Given the description of an element on the screen output the (x, y) to click on. 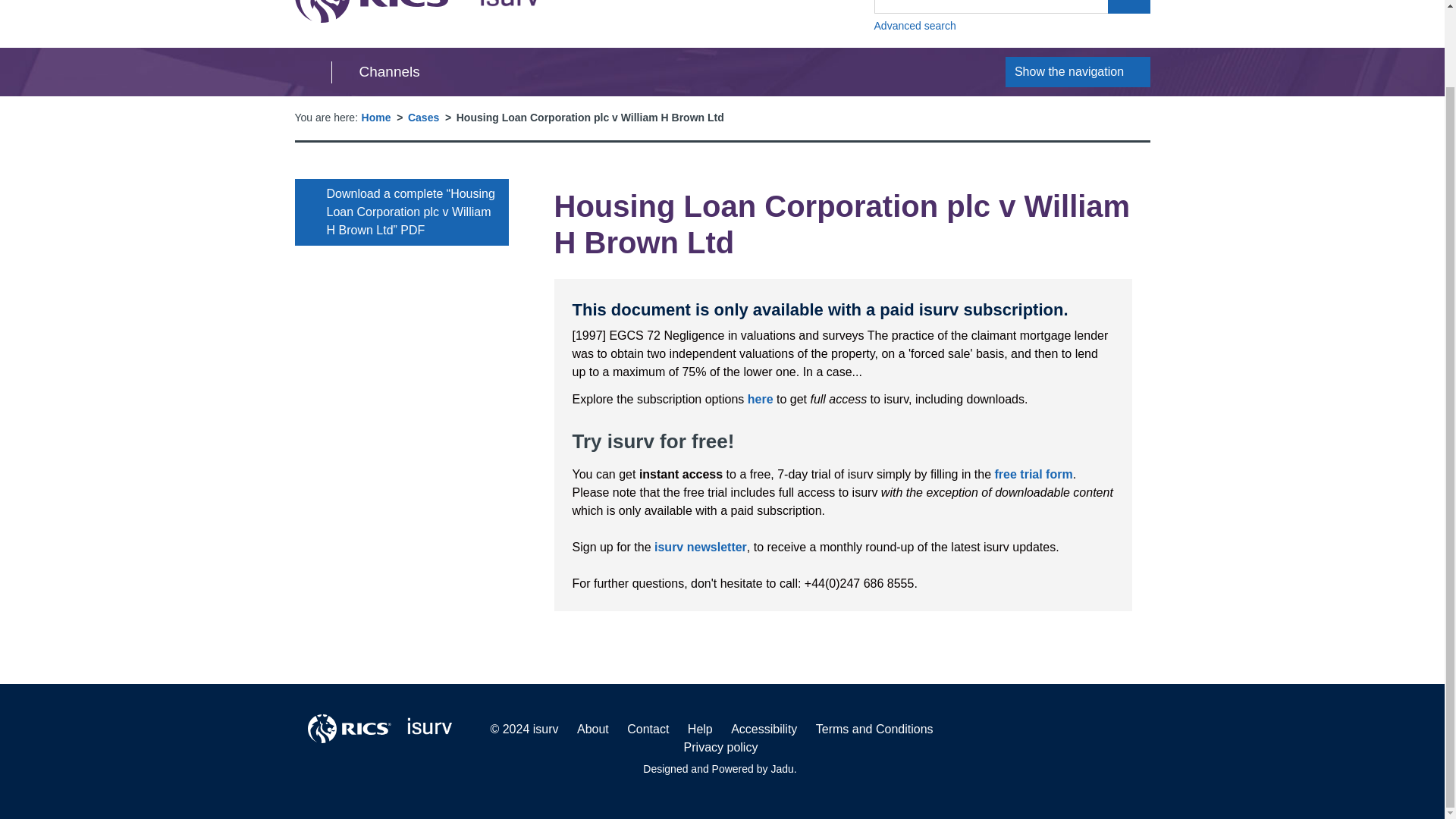
isurv newsletter (699, 546)
here (760, 399)
Home (417, 11)
Show the navigation (376, 117)
Advanced search (1078, 71)
Search (1012, 26)
free trial form (1128, 6)
Cases (1033, 473)
Channels (423, 117)
